Given the description of an element on the screen output the (x, y) to click on. 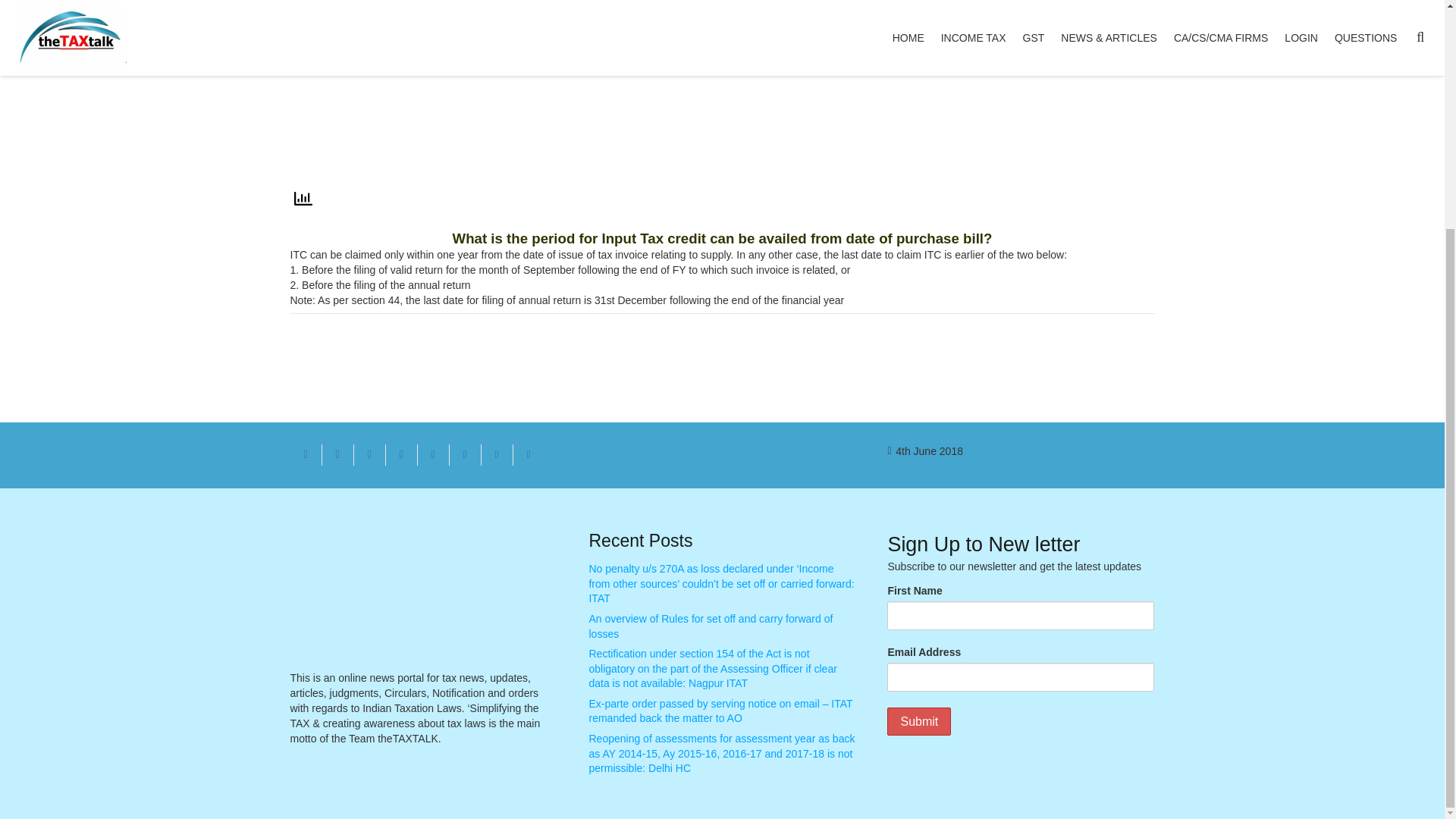
Pin this (432, 455)
Share this (496, 455)
Share this (337, 455)
Share this (528, 455)
Share this (464, 455)
Submit (918, 721)
Tweet this (369, 455)
Email this (305, 455)
Share this (400, 455)
